Given the description of an element on the screen output the (x, y) to click on. 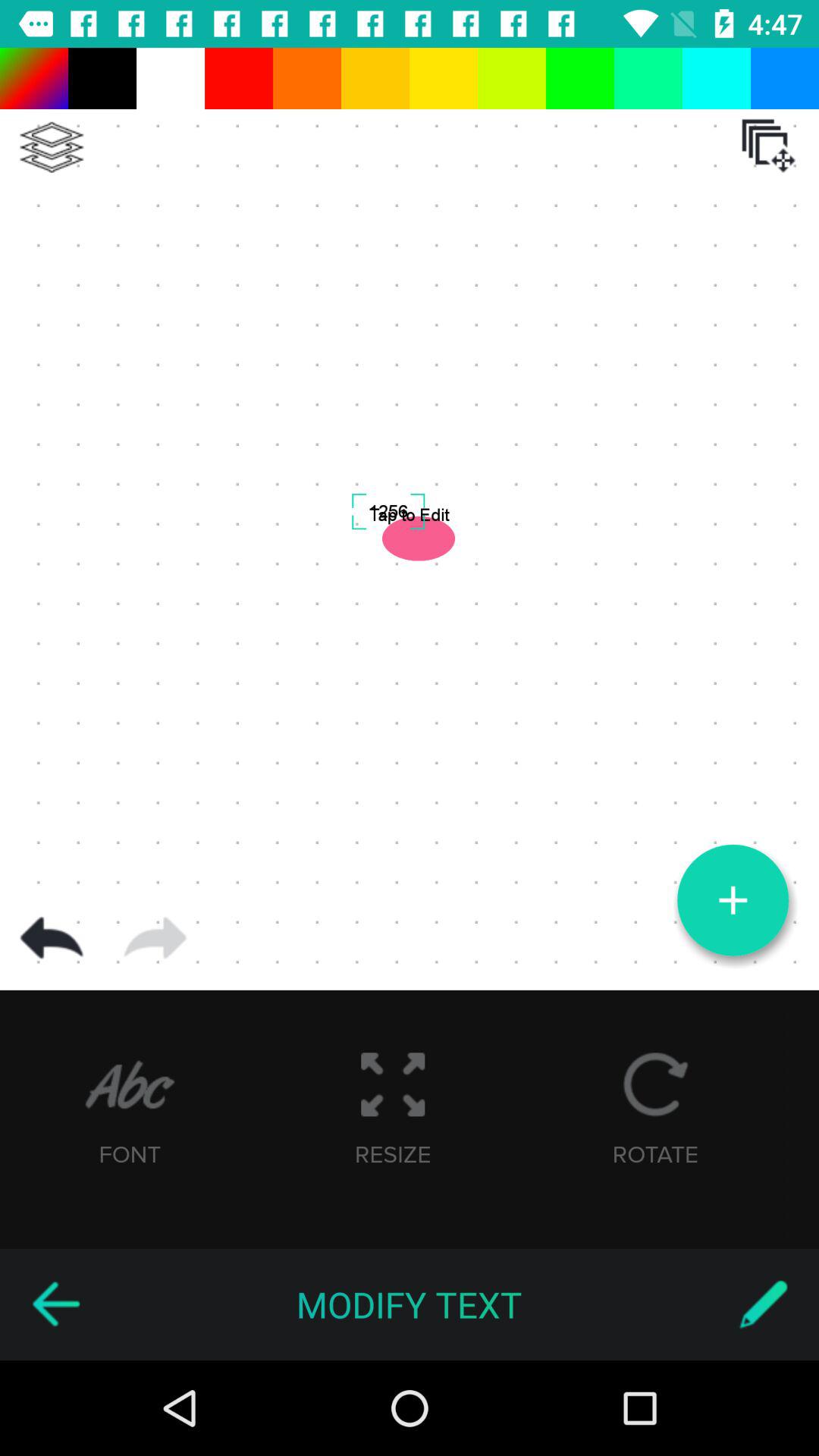
edit text (763, 1304)
